Given the description of an element on the screen output the (x, y) to click on. 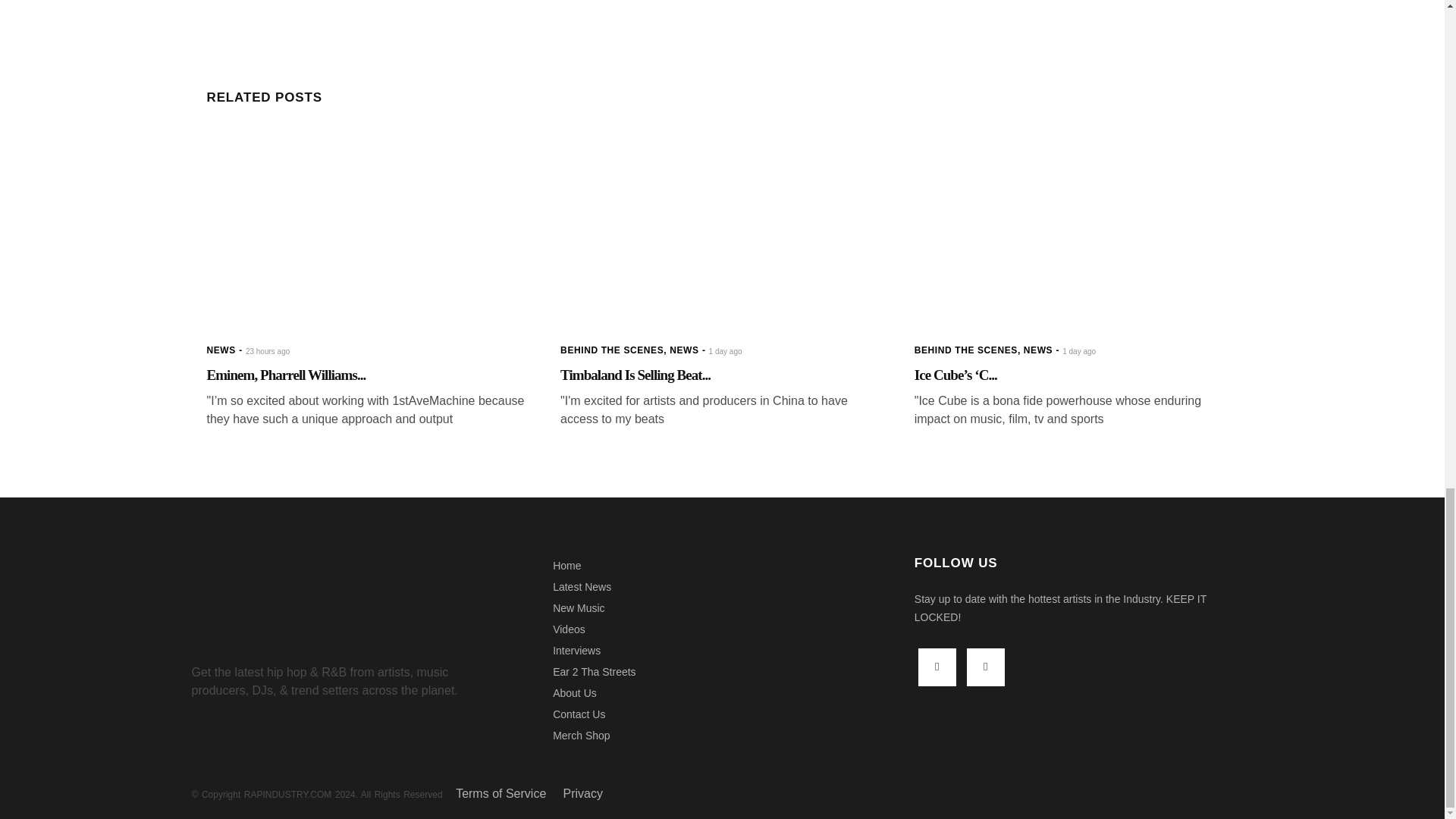
Timbaland Is Selling Beats To China. (635, 374)
Timbaland Is Selling Beats To China. (721, 229)
